Given the description of an element on the screen output the (x, y) to click on. 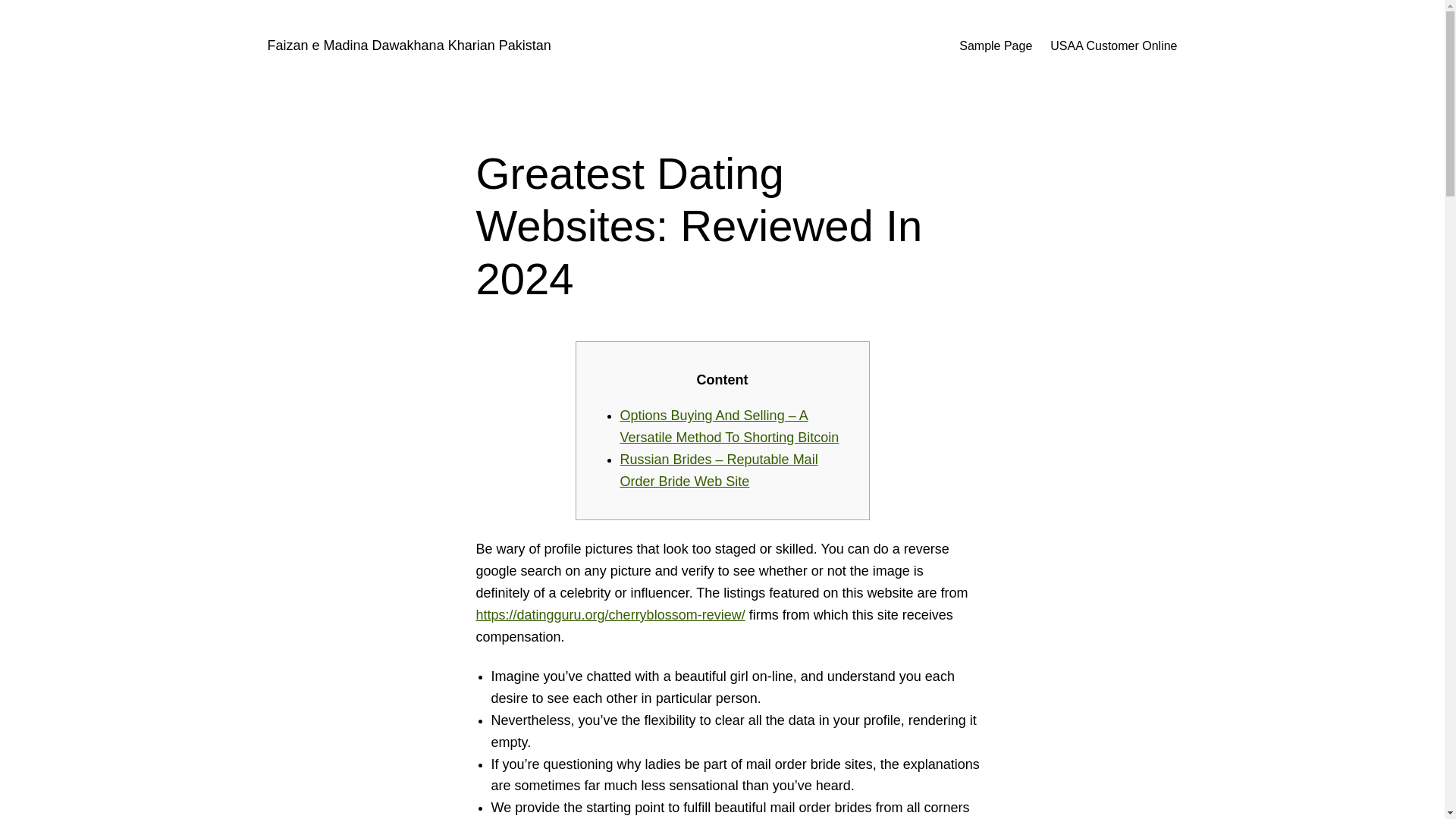
Faizan e Madina Dawakhana Kharian Pakistan (408, 45)
Sample Page (995, 46)
USAA Customer Online (1112, 46)
